Given the description of an element on the screen output the (x, y) to click on. 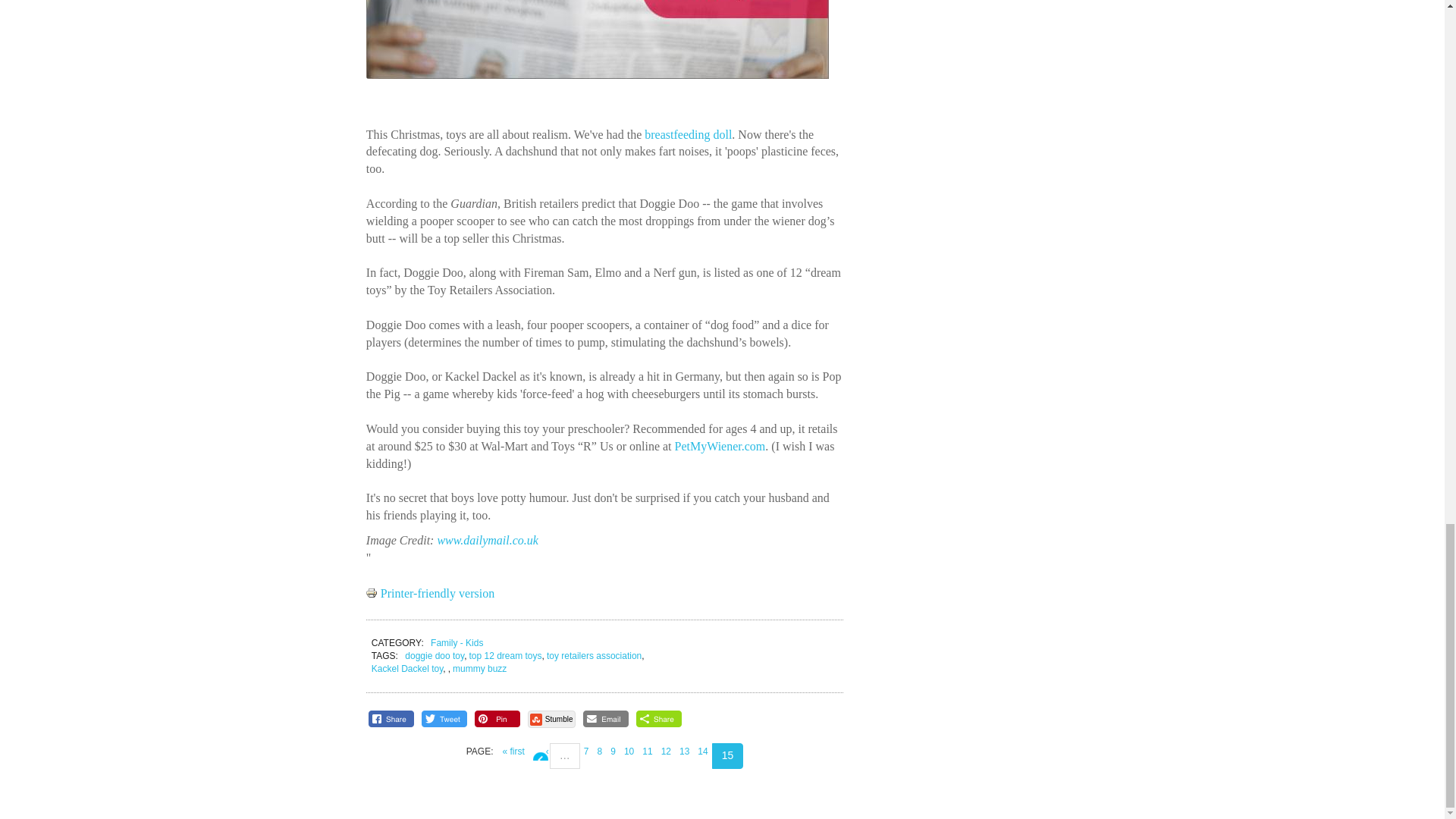
Go to first page (512, 751)
Go to previous page (541, 751)
Go to page 14 (702, 751)
Display a printer-friendly version of this page. (430, 593)
Go to page 10 (629, 751)
Go to page 13 (684, 751)
Go to page 12 (665, 751)
Go to page 11 (646, 751)
